Given the description of an element on the screen output the (x, y) to click on. 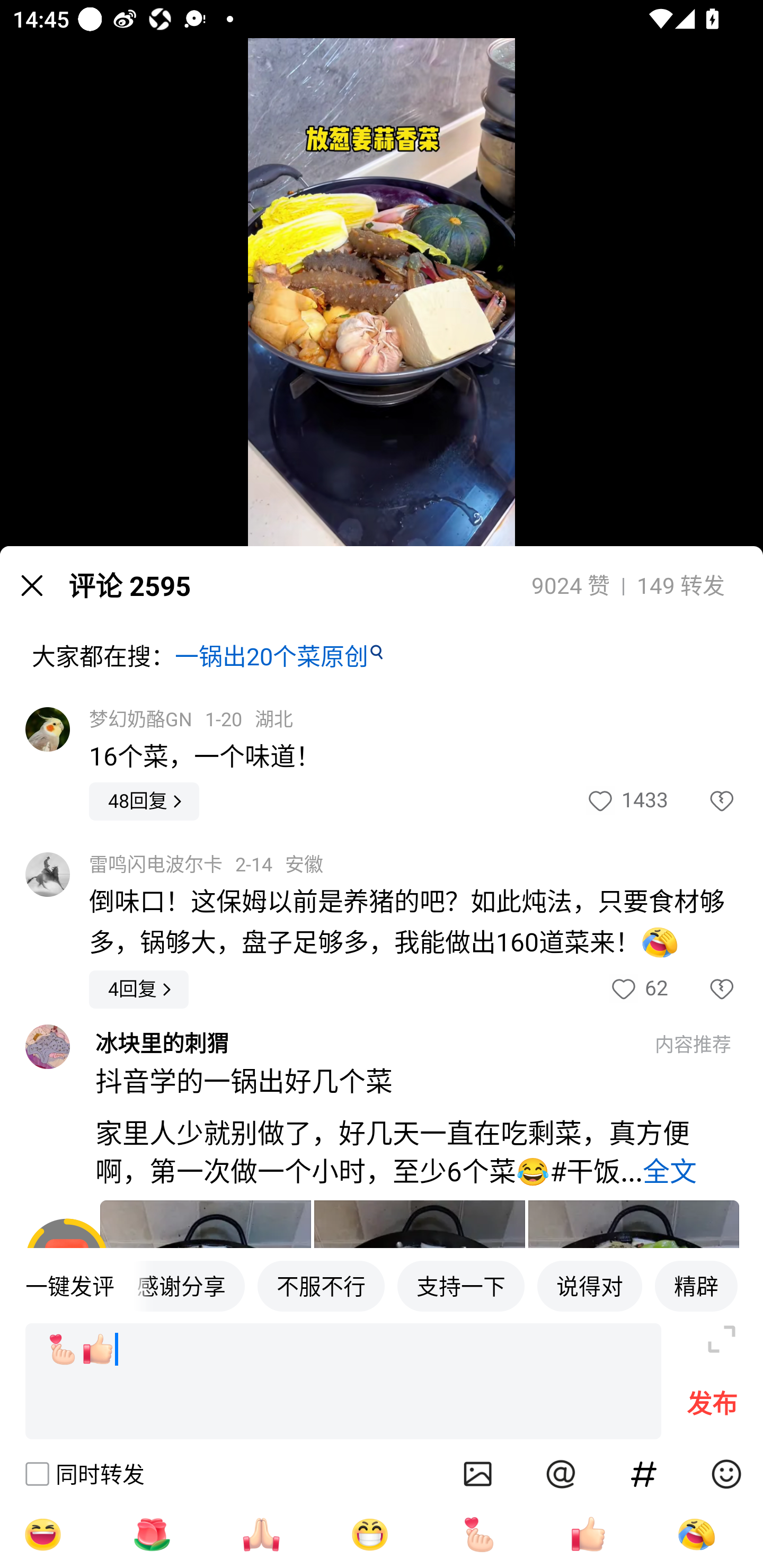
感谢分享 (188, 1285)
不服不行 (320, 1285)
支持一下 (460, 1285)
说得对 (589, 1285)
精辟 (695, 1285)
[比心][赞] (343, 1381)
全屏编辑 (721, 1338)
发布 (711, 1407)
同时转发 (83, 1473)
相册 (478, 1473)
at (560, 1473)
话题 (643, 1473)
表情 (726, 1473)
[大笑] (42, 1534)
[玫瑰] (152, 1534)
[祈祷] (261, 1534)
[呲牙] (369, 1534)
[比心] (478, 1534)
[赞] (588, 1534)
[捂脸] (696, 1534)
